Given the description of an element on the screen output the (x, y) to click on. 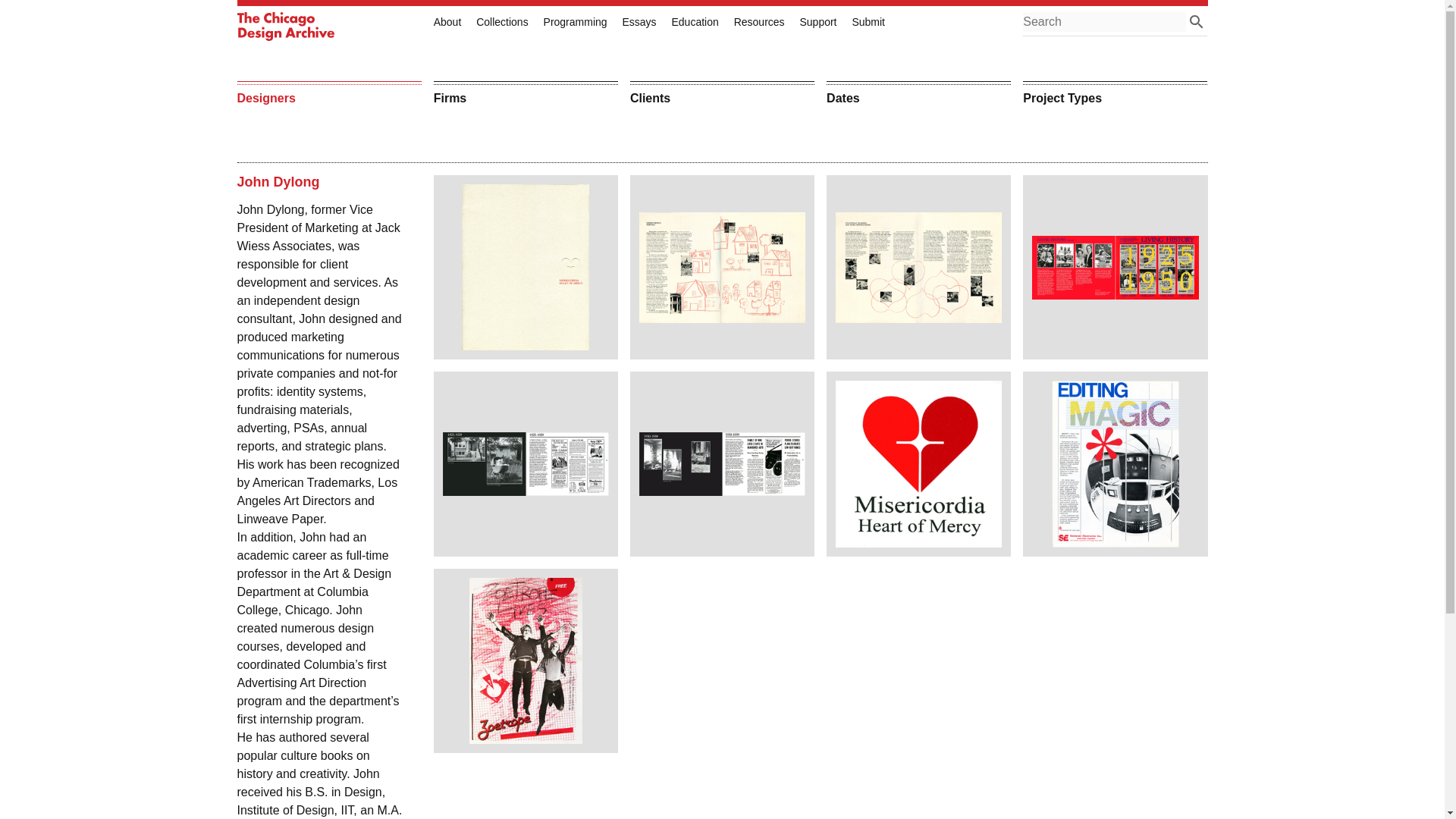
Designers (327, 94)
Essays (638, 21)
Clients (721, 94)
Resources (758, 21)
Support (817, 21)
Firms (525, 94)
Apply (1196, 21)
Project Types (1115, 94)
Programming (575, 21)
